Given the description of an element on the screen output the (x, y) to click on. 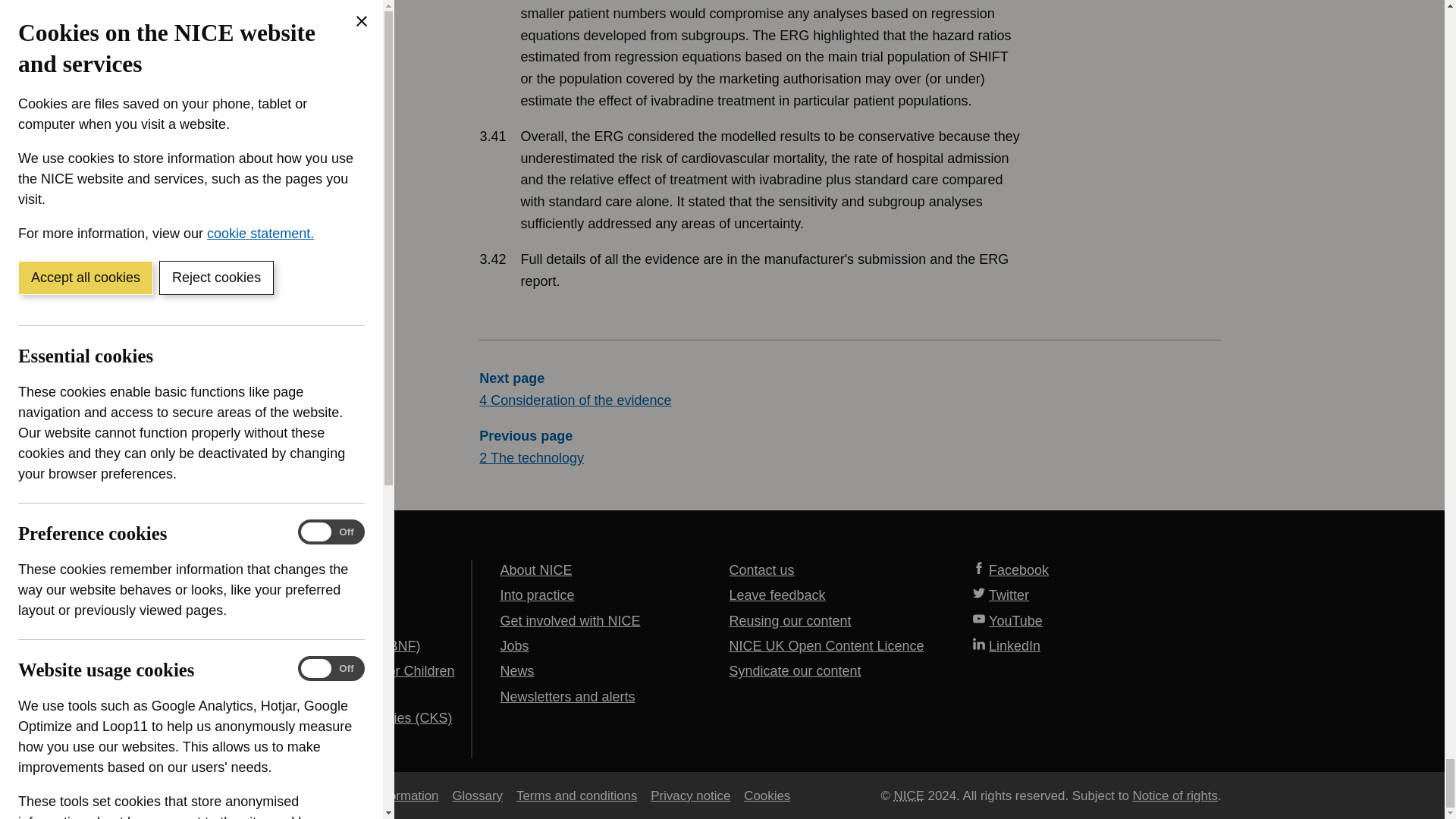
National Institute for Health and Care Excellence (908, 794)
